Given the description of an element on the screen output the (x, y) to click on. 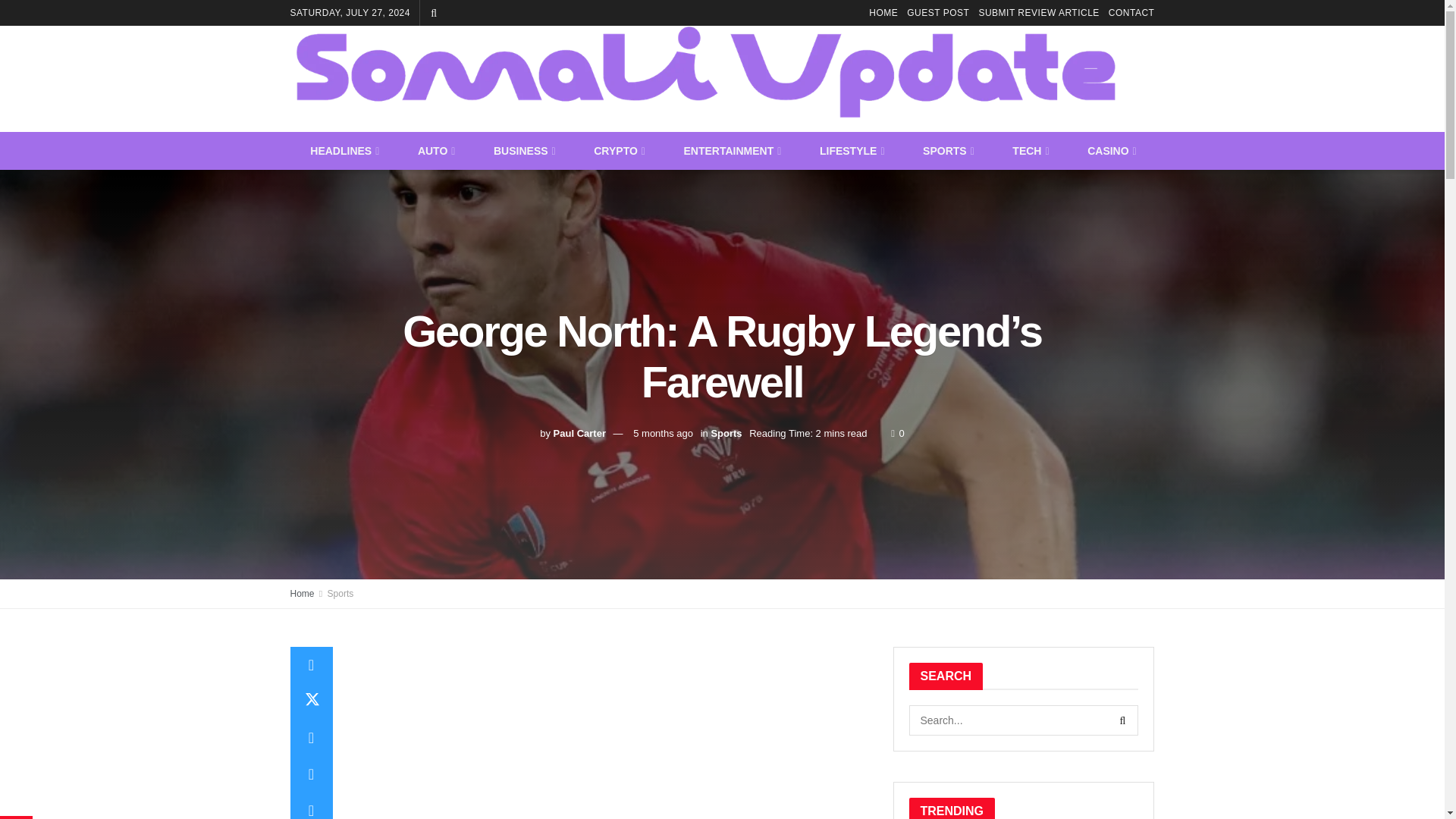
LIFESTYLE (850, 150)
SUBMIT REVIEW ARTICLE (1038, 12)
HOME (883, 12)
CRYPTO (617, 150)
GUEST POST (938, 12)
SPORTS (946, 150)
ENTERTAINMENT (731, 150)
CONTACT (1131, 12)
BUSINESS (523, 150)
AUTO (435, 150)
Advertisement (608, 733)
HEADLINES (343, 150)
